Given the description of an element on the screen output the (x, y) to click on. 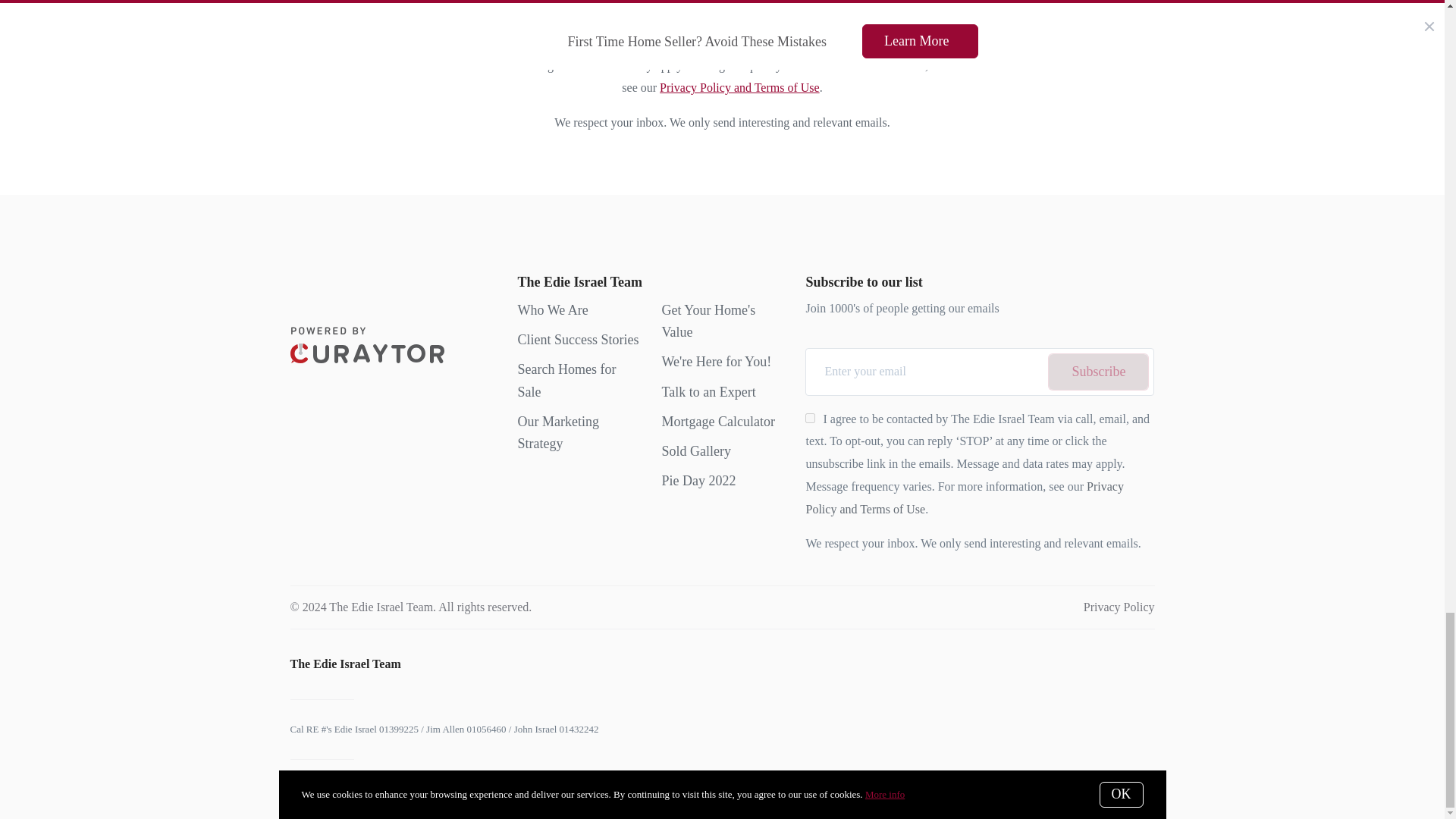
curaytor-horizontal (366, 344)
on (524, 19)
on (810, 418)
